Given the description of an element on the screen output the (x, y) to click on. 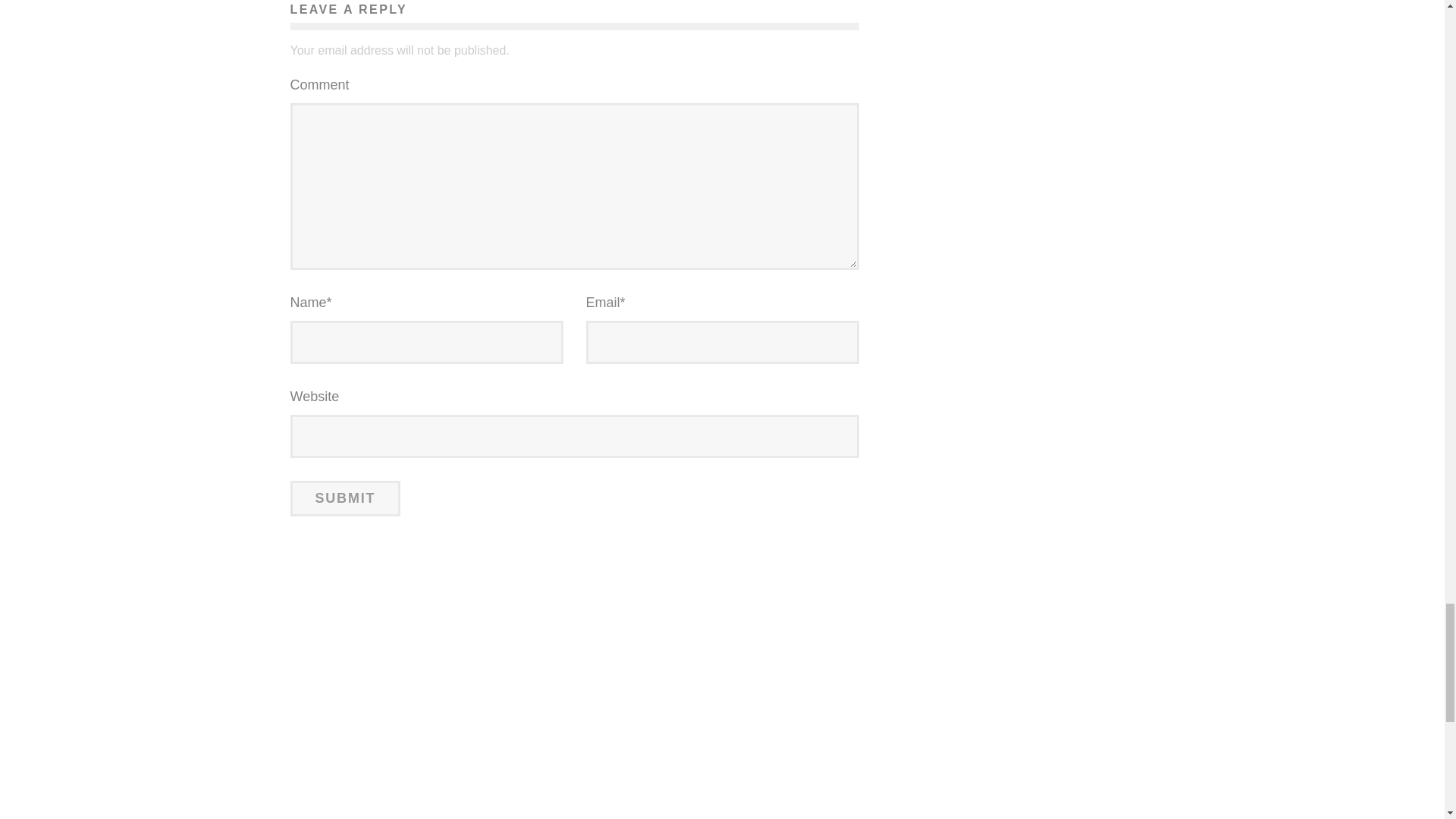
Submit (344, 498)
